Given the description of an element on the screen output the (x, y) to click on. 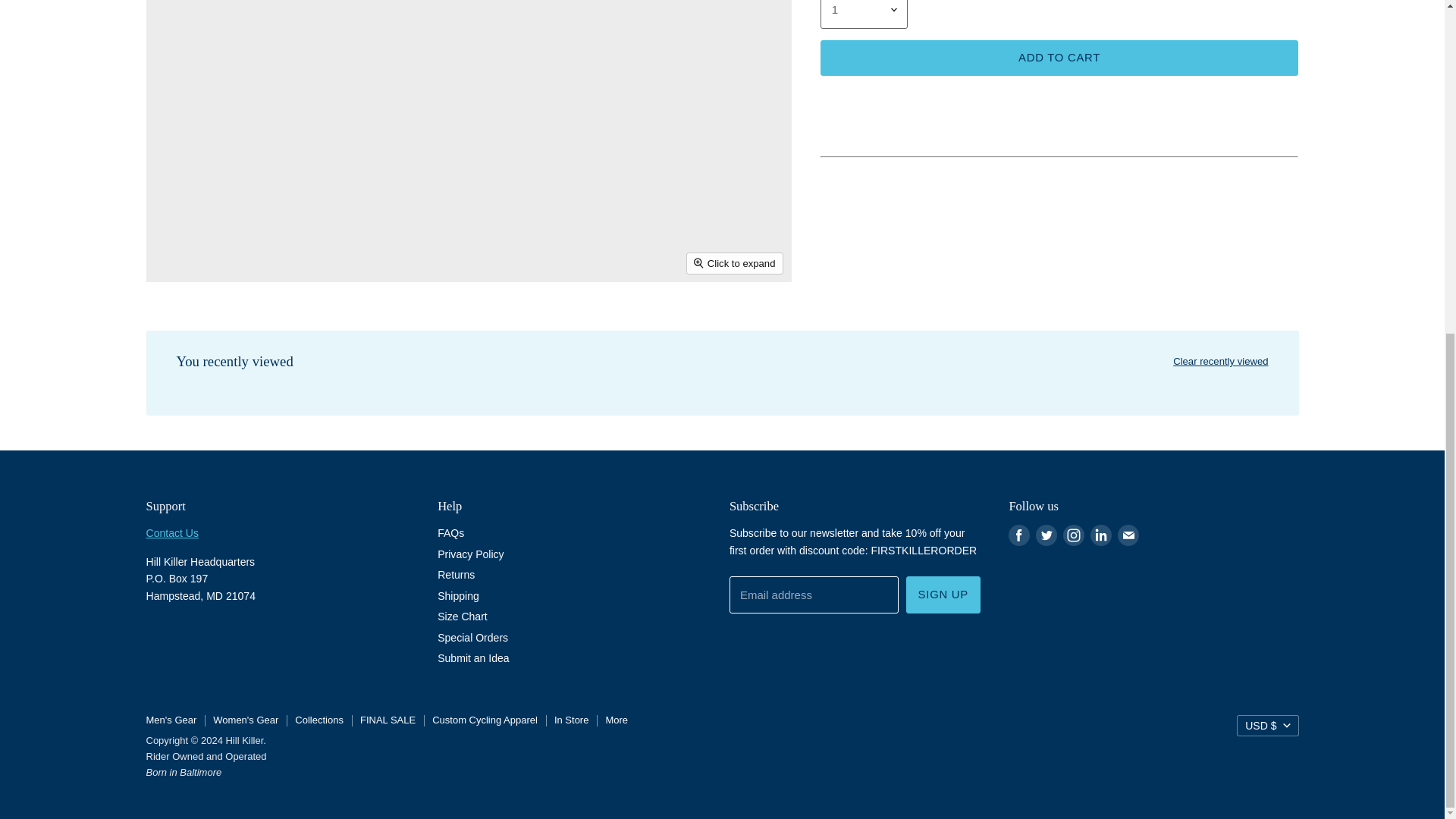
Twitter (1045, 534)
Instagram (1073, 534)
E-mail (1128, 534)
Facebook (1019, 534)
LinkedIn (1101, 534)
